Given the description of an element on the screen output the (x, y) to click on. 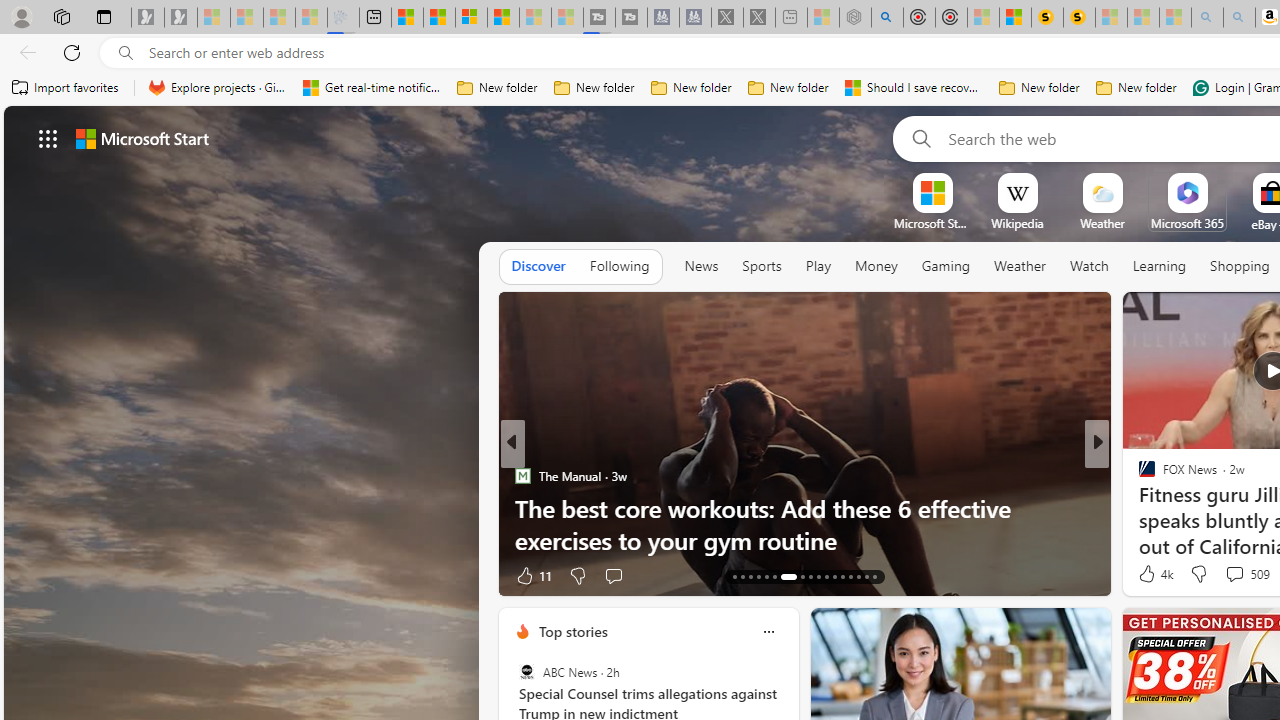
Live Science (1138, 475)
36 Like (1149, 574)
Dislike (1198, 574)
View comments 509 Comment (1246, 574)
New folder (1136, 88)
View comments 8 Comment (1241, 574)
XDA Developers (1138, 507)
Microsoft start (142, 138)
